Given the description of an element on the screen output the (x, y) to click on. 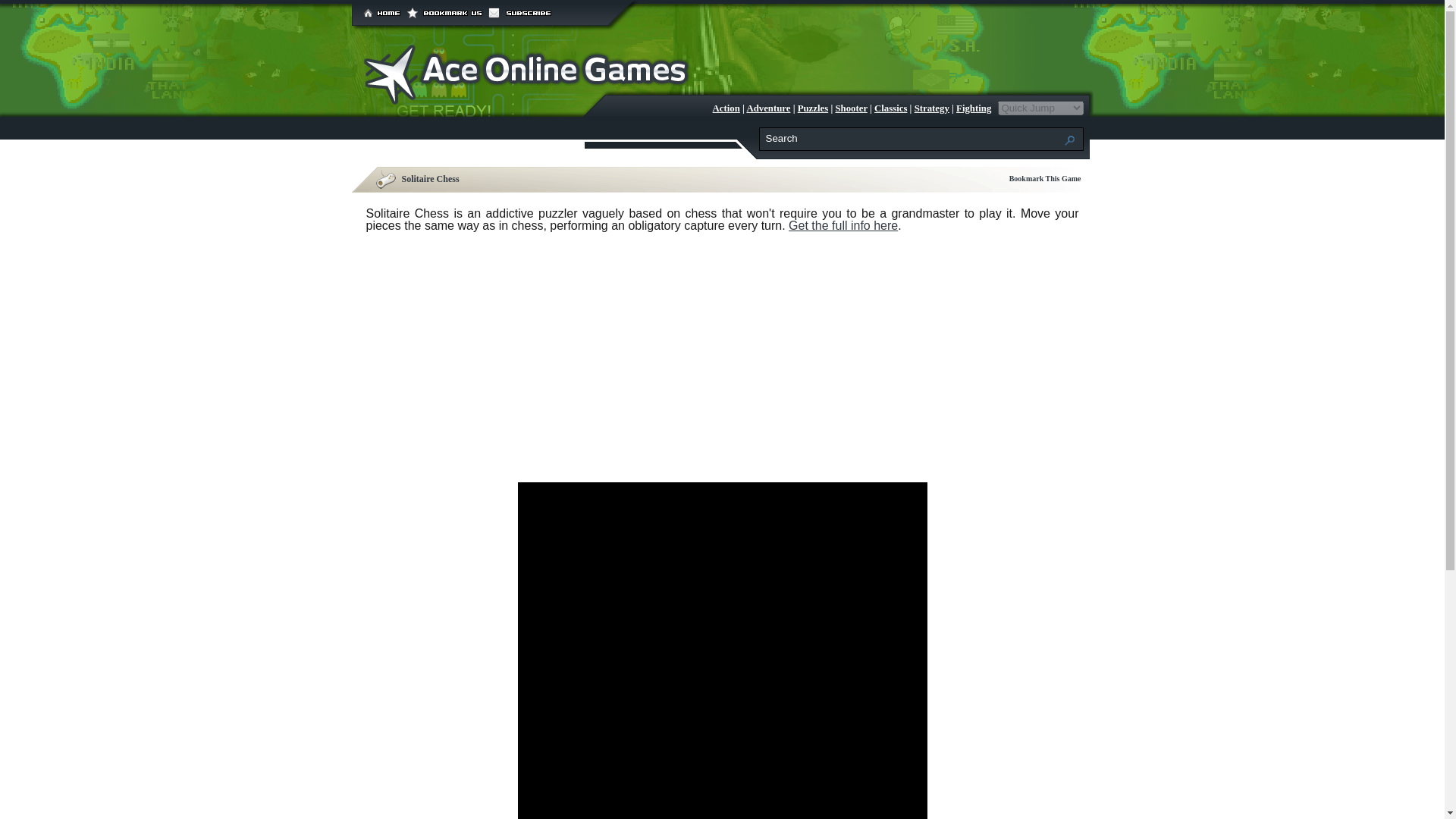
Search (913, 138)
Bookmark This Game (1045, 178)
Classics (891, 108)
Adventure (767, 108)
Action (726, 108)
Shooter (850, 108)
Ace Online Games (526, 100)
Fighting (973, 108)
Strategy (931, 108)
Get the full info here (843, 225)
